Given the description of an element on the screen output the (x, y) to click on. 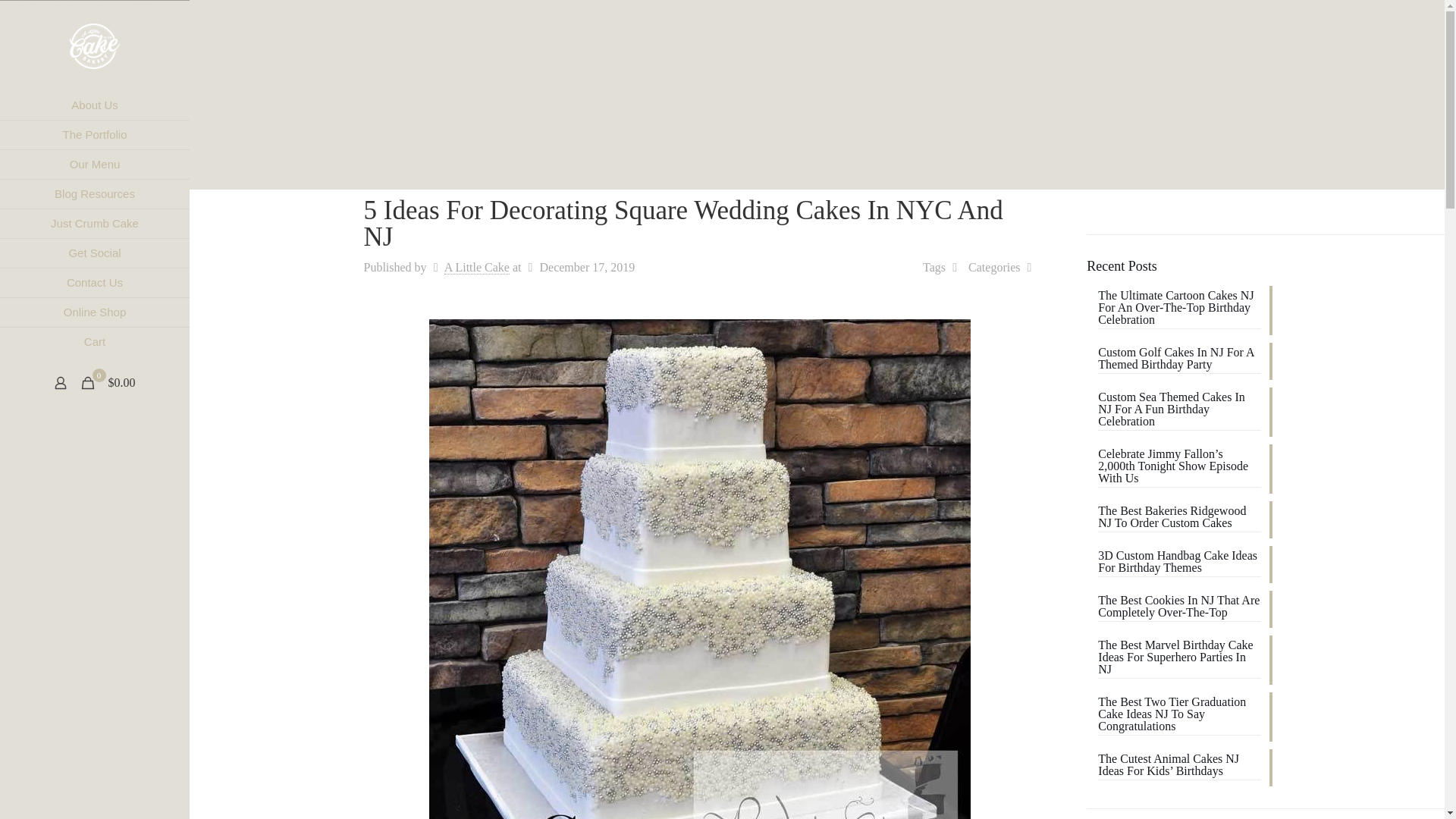
About Us (94, 105)
Contact Us (94, 283)
Our Menu (94, 164)
Just Crumb Cake (94, 224)
Cart (94, 341)
Get Social (94, 253)
Online Shop (94, 312)
The Portfolio (94, 134)
Blog Resources (94, 194)
